Given the description of an element on the screen output the (x, y) to click on. 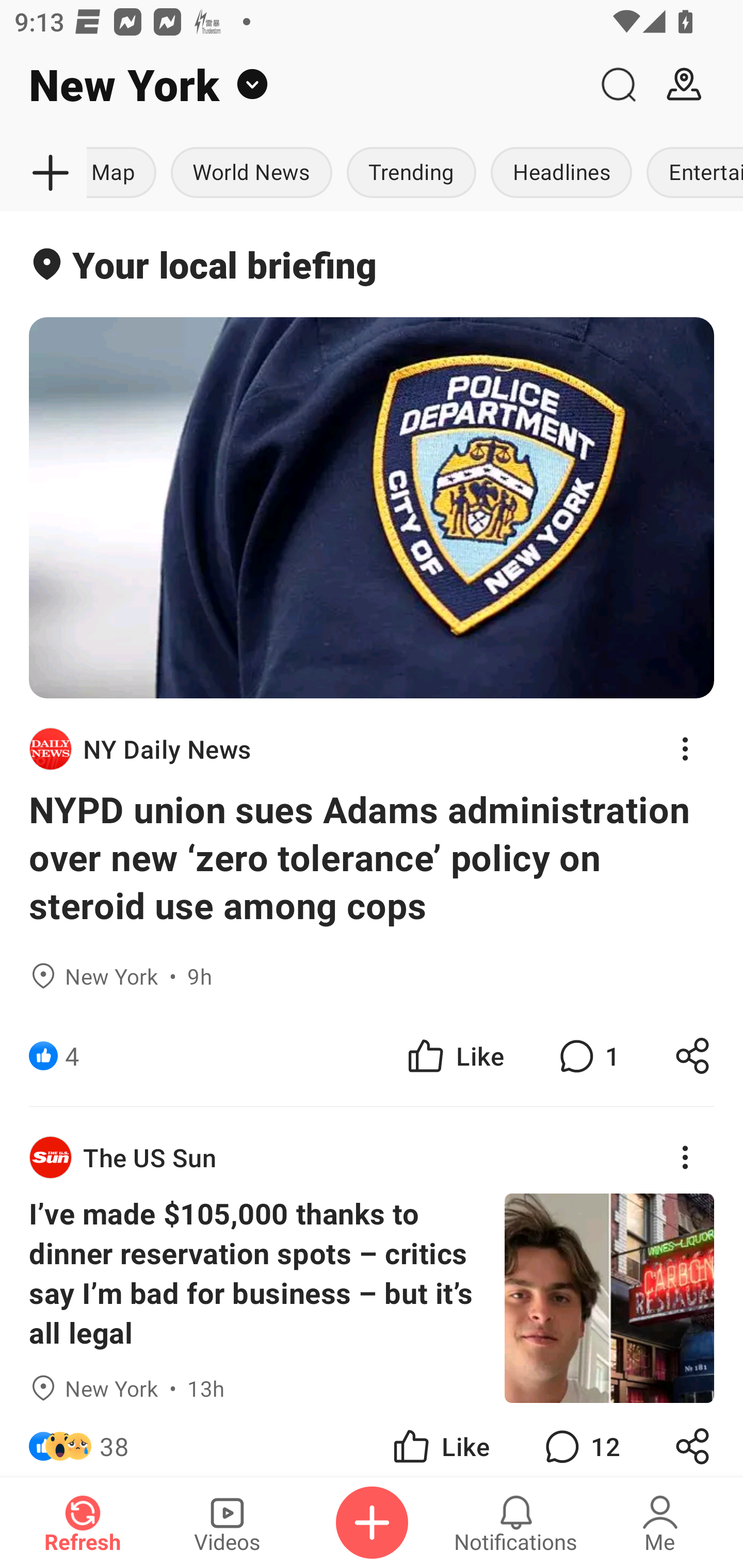
New York (292, 84)
Crime Map (124, 172)
World News (251, 172)
Trending (411, 172)
Headlines (560, 172)
Entertainment (690, 172)
4 (72, 1055)
Like (454, 1055)
1 (587, 1055)
38 (114, 1440)
Like (439, 1440)
12 (579, 1440)
Videos (227, 1522)
Notifications (516, 1522)
Me (659, 1522)
